Given the description of an element on the screen output the (x, y) to click on. 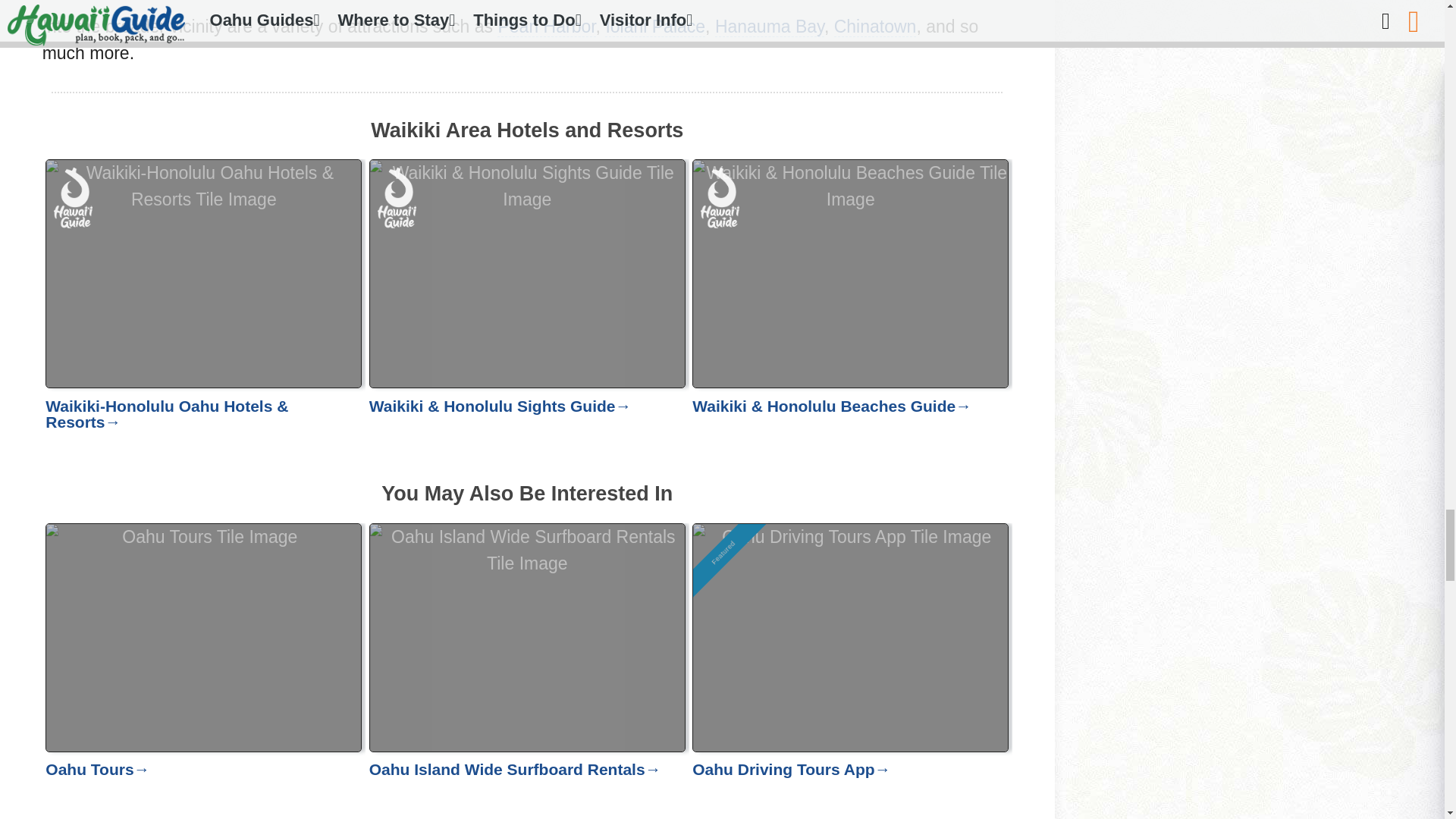
Oahu Island Wide Surfboard Rentals (527, 671)
Oahu Driving Tours App (851, 671)
Oahu Tours (203, 671)
